Given the description of an element on the screen output the (x, y) to click on. 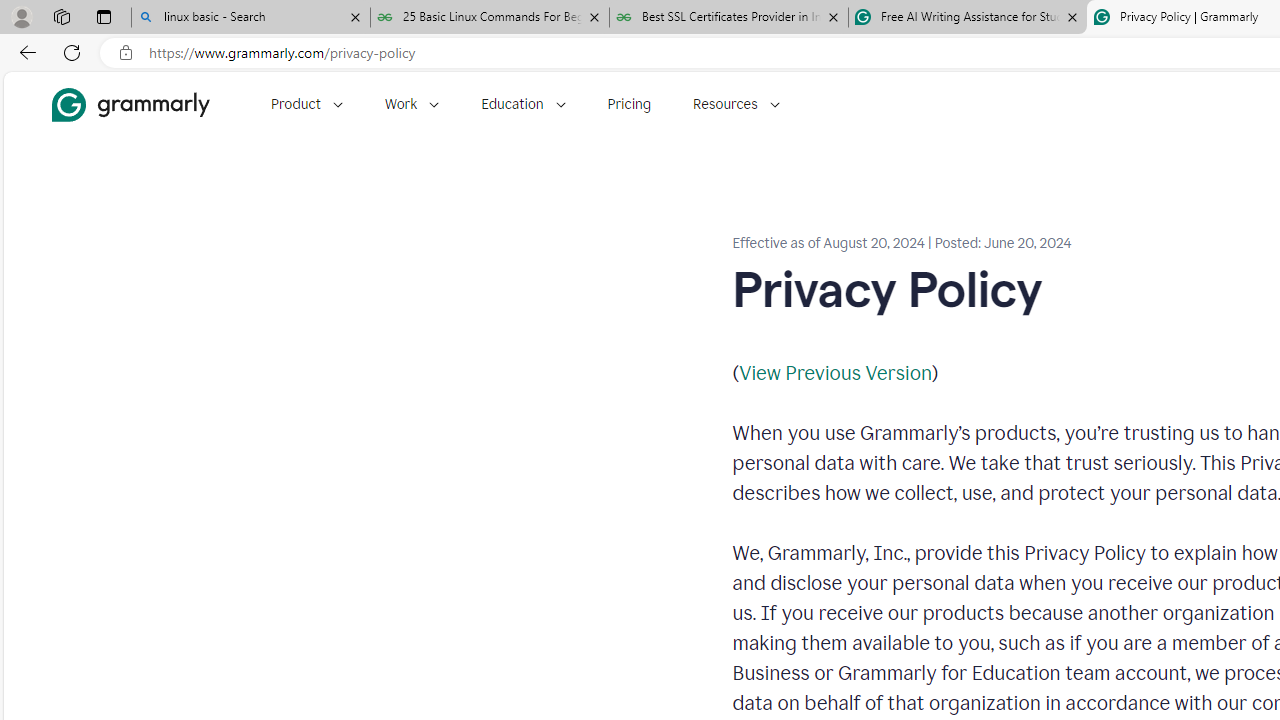
Product (306, 104)
Education (523, 103)
Pricing (629, 104)
Education (523, 104)
Pricing (629, 103)
